Given the description of an element on the screen output the (x, y) to click on. 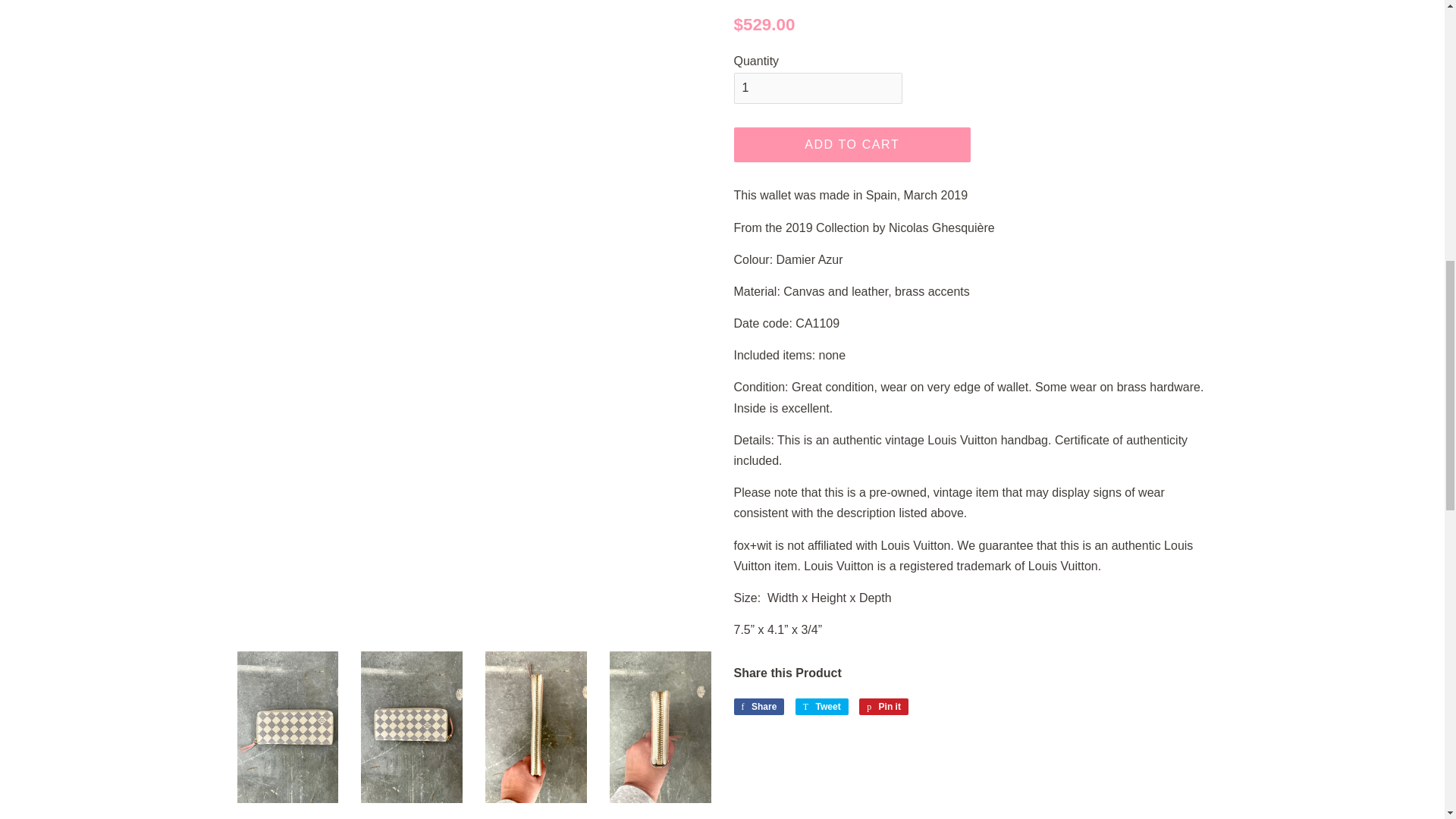
1 (817, 88)
Share on Facebook (758, 706)
Pin on Pinterest (883, 706)
Tweet on Twitter (821, 706)
